Given the description of an element on the screen output the (x, y) to click on. 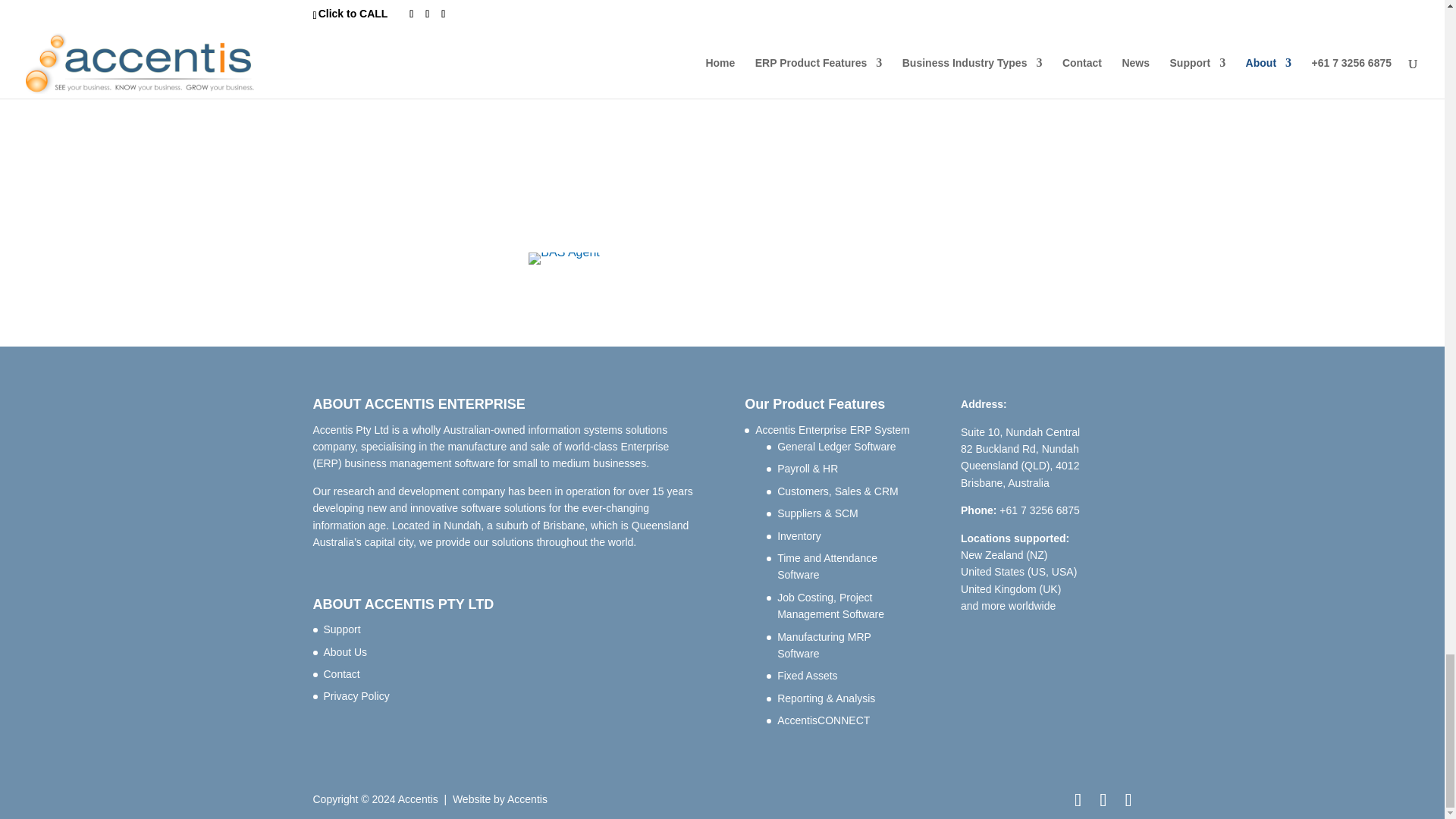
BAS Agent (563, 258)
